Given the description of an element on the screen output the (x, y) to click on. 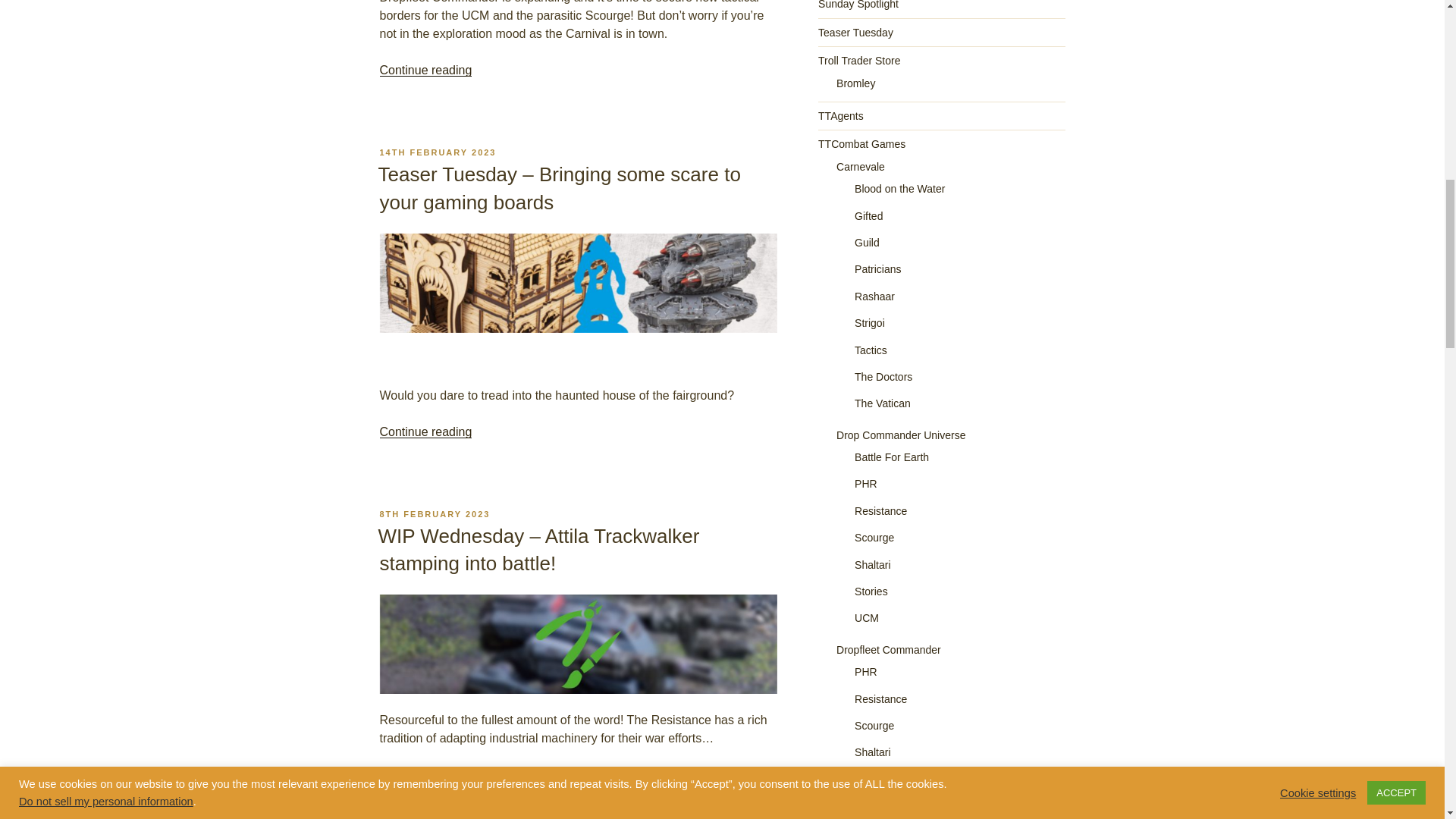
14TH FEBRUARY 2023 (437, 152)
8TH FEBRUARY 2023 (433, 513)
